Given the description of an element on the screen output the (x, y) to click on. 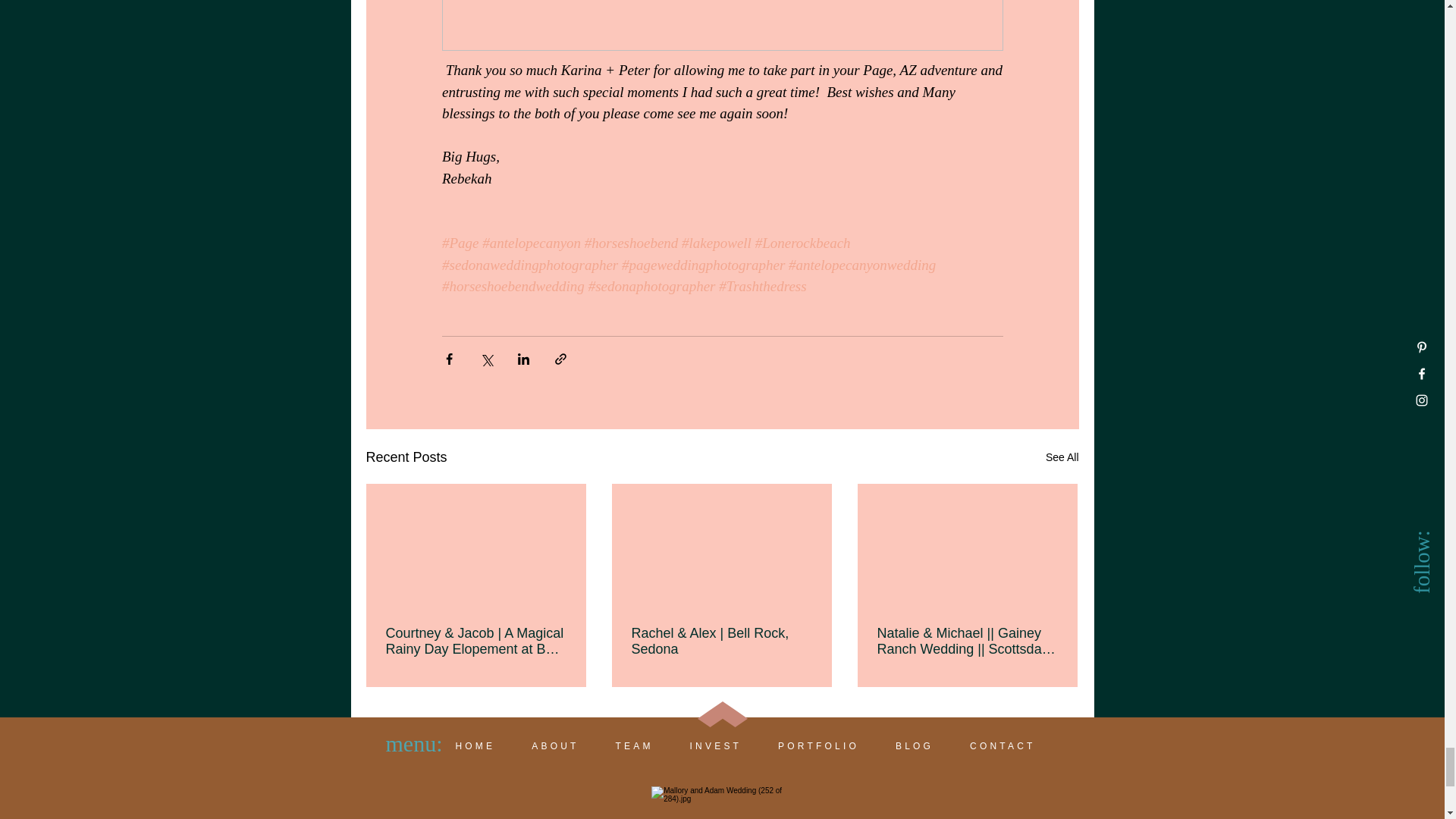
PORTFOLIO (818, 746)
ABOUT (554, 746)
See All (1061, 457)
INVEST (715, 746)
HOME (474, 746)
TEAM (633, 746)
